Given the description of an element on the screen output the (x, y) to click on. 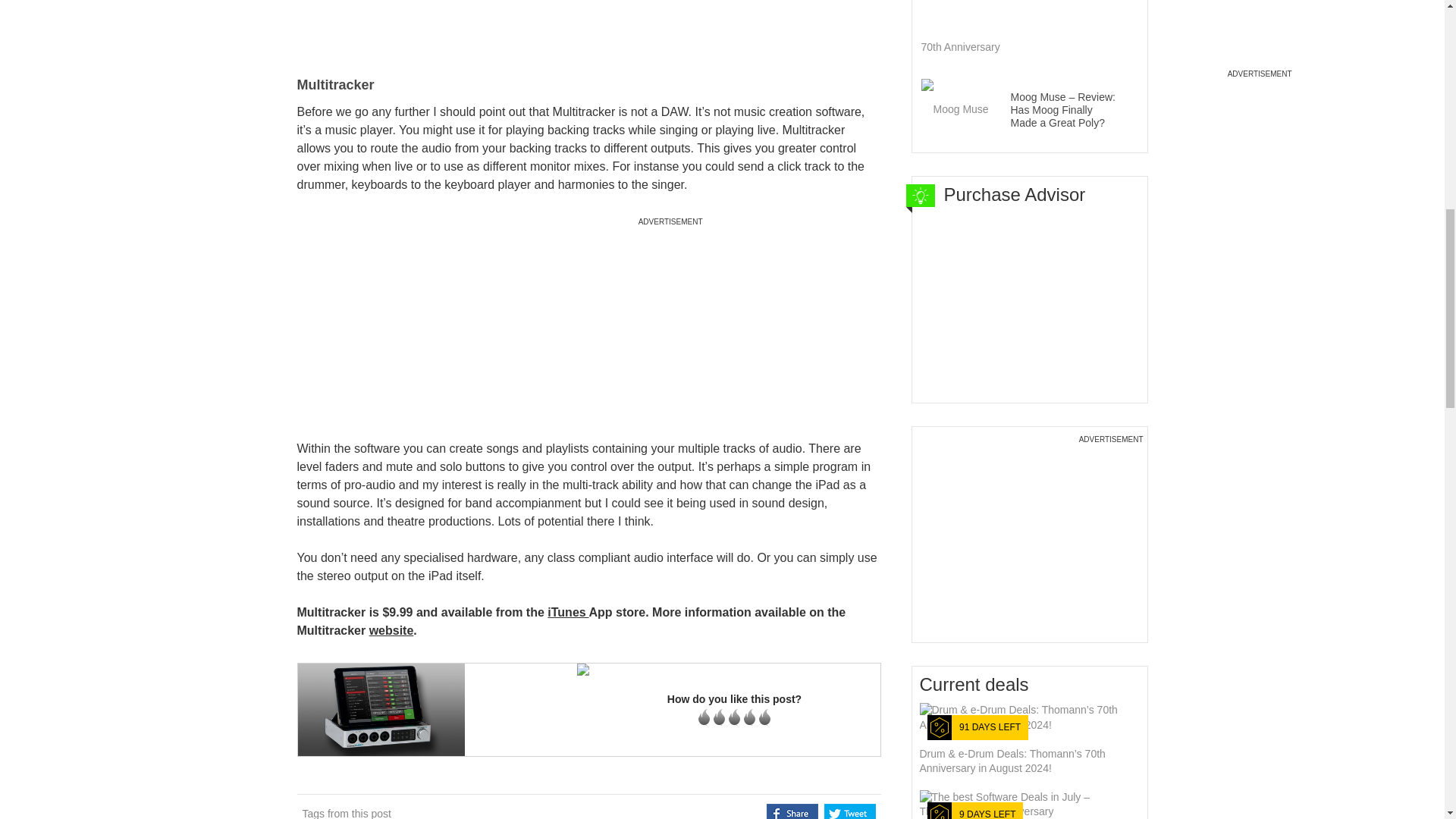
Share on Facebook (791, 811)
Share on Twitter (850, 811)
